Given the description of an element on the screen output the (x, y) to click on. 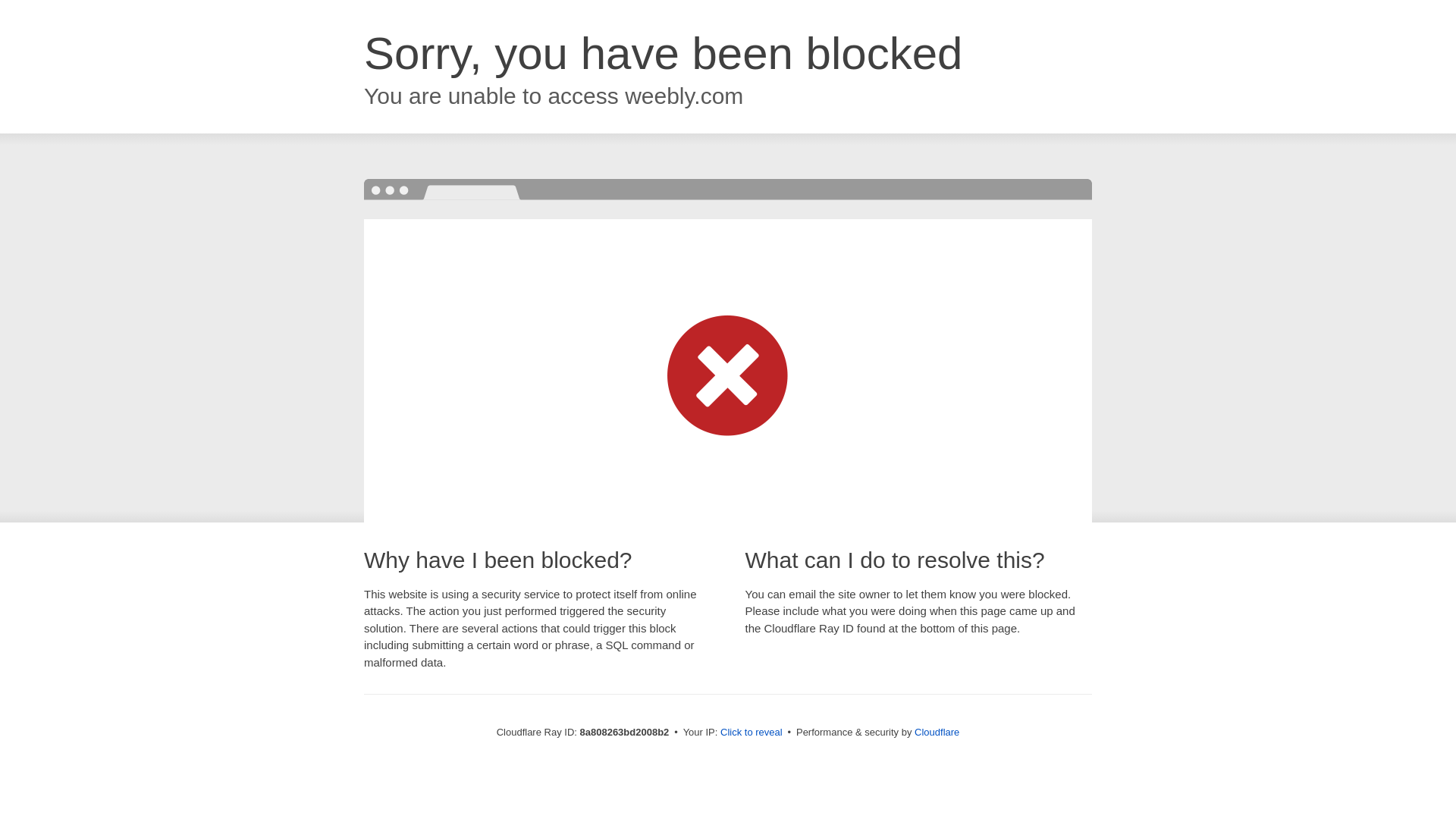
Cloudflare (936, 731)
Click to reveal (751, 732)
